Given the description of an element on the screen output the (x, y) to click on. 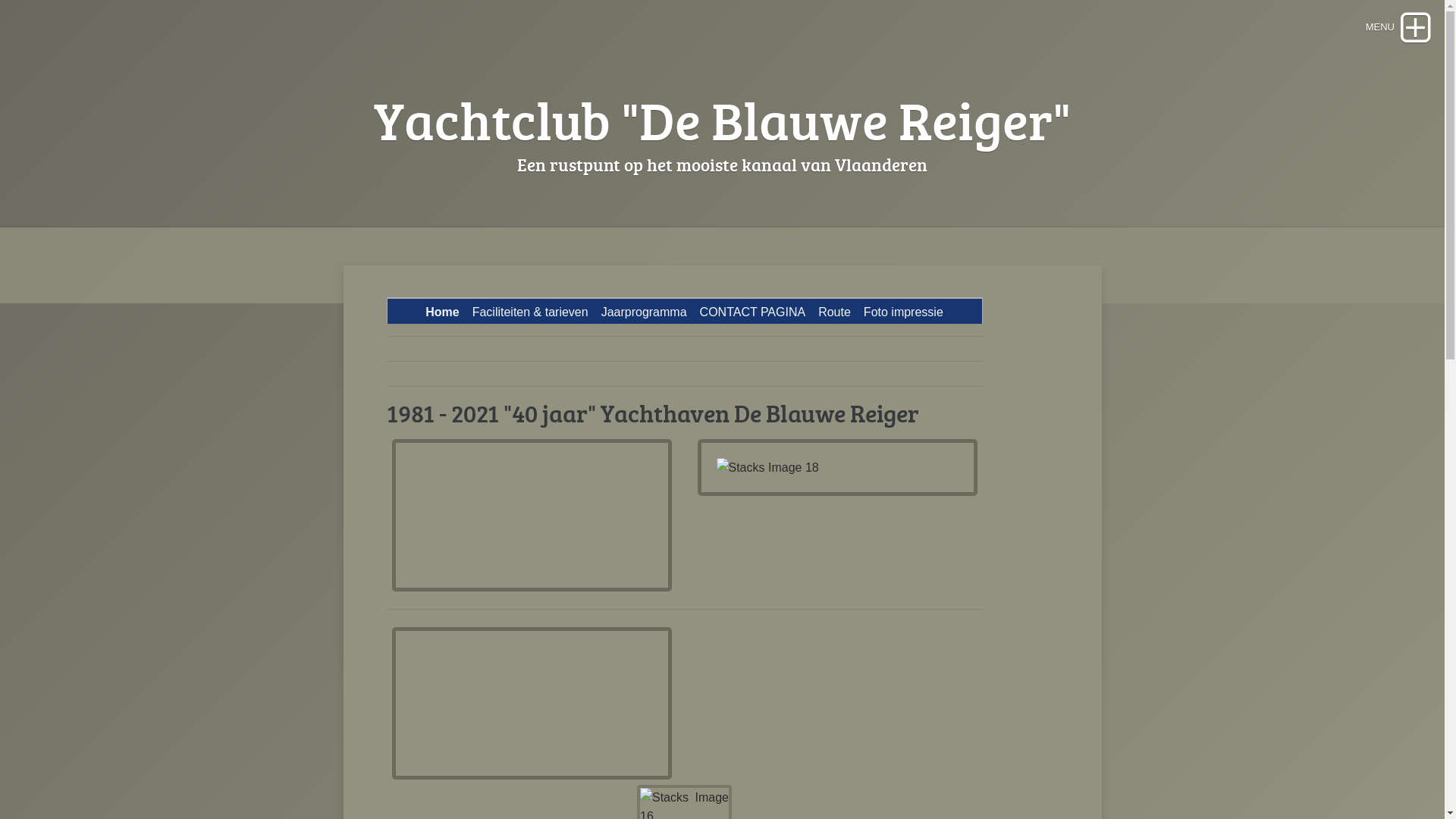
Home Element type: text (441, 311)
Route Element type: text (834, 311)
CONTACT PAGINA Element type: text (752, 311)
Foto impressie Element type: text (903, 311)
Jaarprogramma Element type: text (644, 311)
Faciliteiten & tarieven Element type: text (530, 311)
Winter 2021 De Blauwe reiger Element type: hover (521, 512)
Mei 2020 De Blauwe reiger Element type: hover (521, 700)
